Given the description of an element on the screen output the (x, y) to click on. 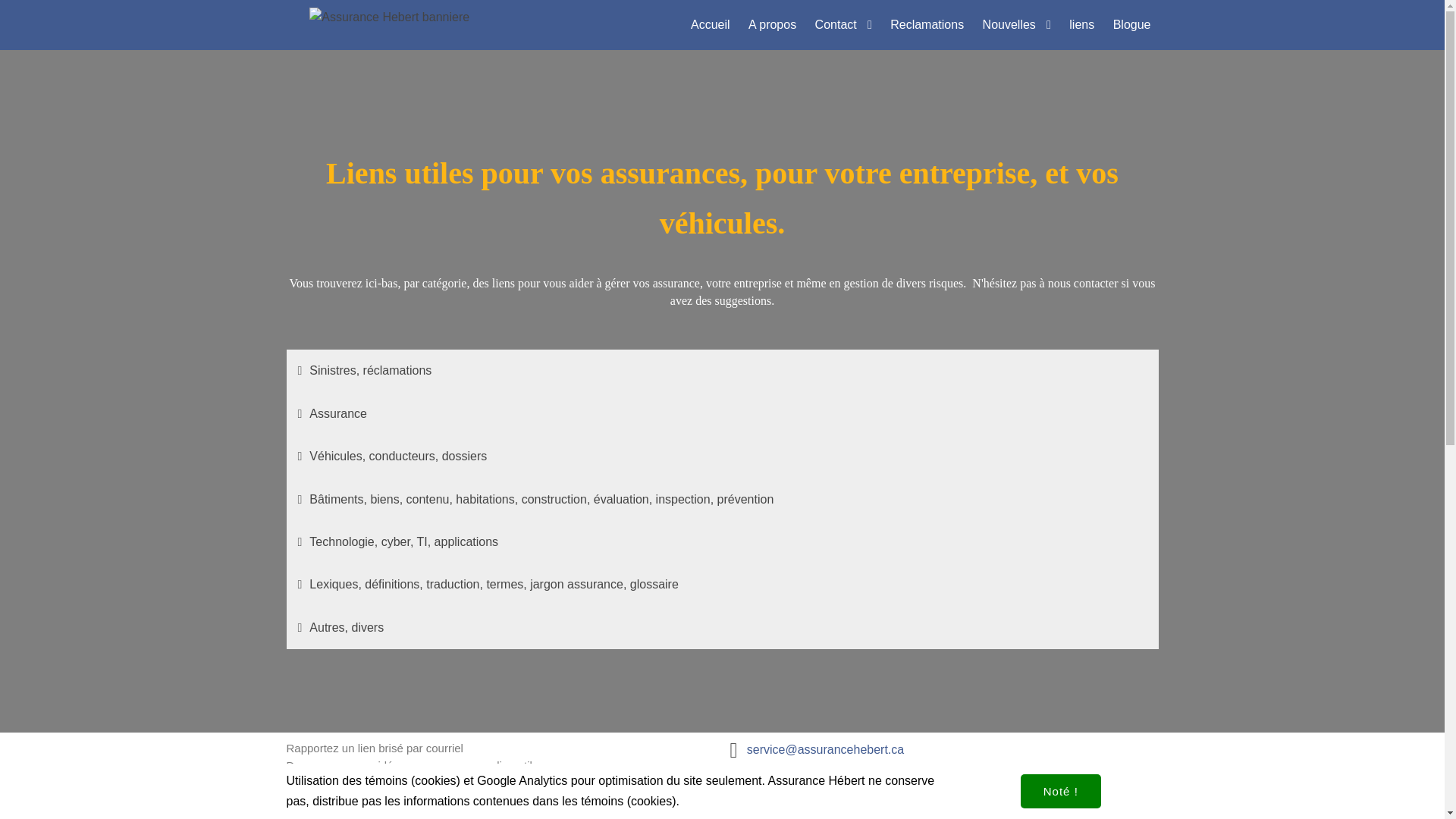
Reclamations Element type: text (926, 24)
Assurance Element type: text (722, 413)
Contact Element type: text (843, 24)
liens Element type: text (1081, 24)
Accueil Element type: text (710, 24)
Nouvelles Element type: text (1016, 24)
Autres, divers Element type: text (722, 627)
Technologie, cyber, TI, applications Element type: text (722, 541)
A propos Element type: text (771, 24)
Assurance Hebert banniere Element type: hover (389, 17)
service@assurancehebert.ca Element type: text (824, 751)
Blogue Element type: text (1131, 24)
